Given the description of an element on the screen output the (x, y) to click on. 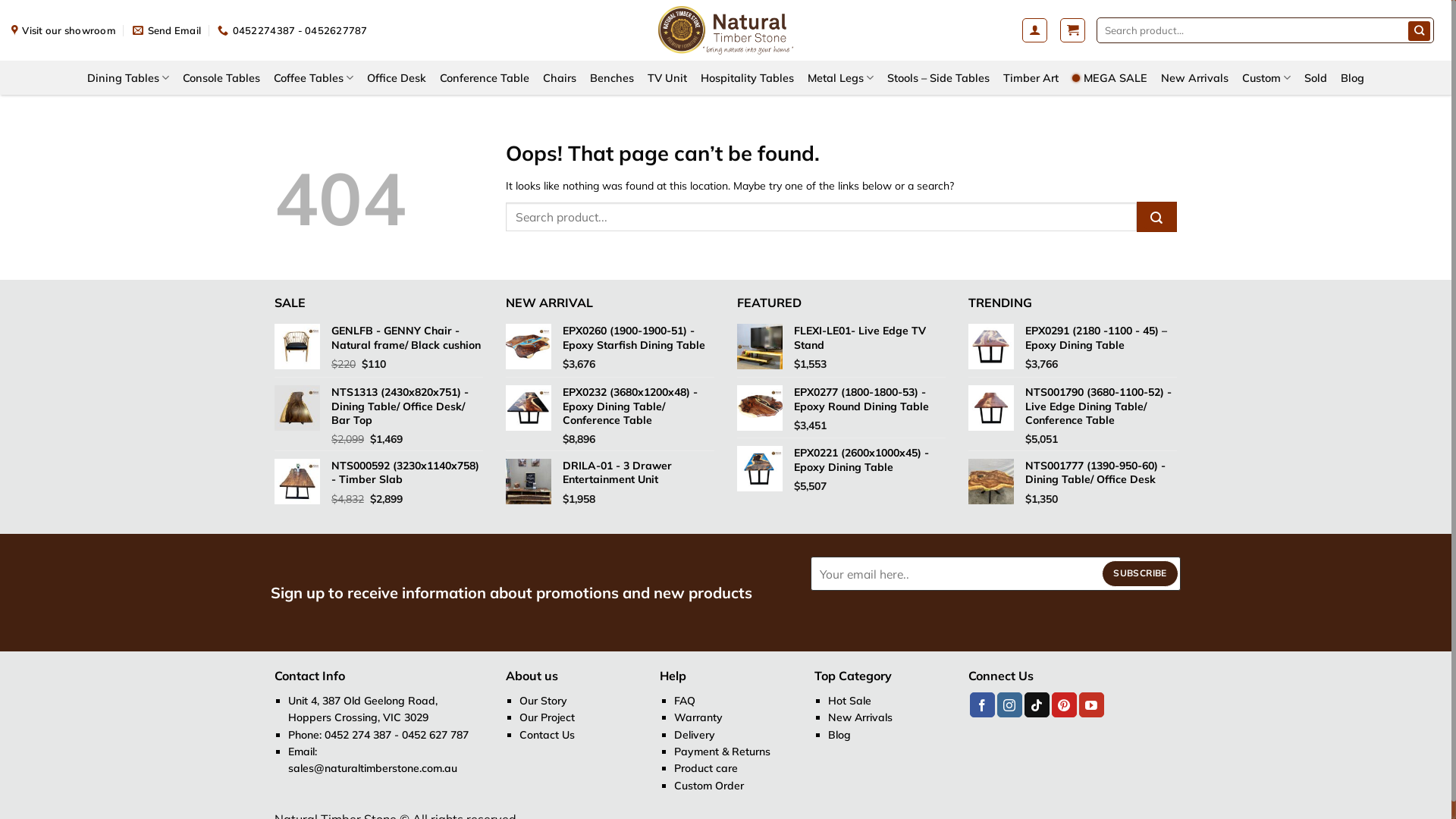
FLEXI-LE01- Live Edge TV Stand Element type: text (869, 337)
Contact Us Element type: text (546, 734)
Our Story Element type: text (543, 700)
NTS000592 (3230x1140x758) - Timber Slab Element type: text (407, 472)
Conference Table Element type: text (484, 77)
Timber Art Element type: text (1030, 77)
NTS001777 (1390-950-60) - Dining Table/ Office Desk Element type: text (1100, 472)
DRILA-01 - 3 Drawer Entertainment Unit Element type: text (638, 472)
Natural Timber Stone - Bring natural into your home Element type: hover (725, 30)
Payment & Returns Element type: text (722, 751)
EPX0277 (1800-1800-53) - Epoxy Round Dining Table Element type: text (869, 398)
TV Unit Element type: text (667, 77)
FAQ Element type: text (684, 700)
0452274387 - 0452627787 Element type: text (292, 30)
Custom Order Element type: text (708, 785)
EPX0260 (1900-1900-51) - Epoxy Starfish Dining Table Element type: text (638, 337)
GENLFB - GENNY Chair - Natural frame/ Black cushion Element type: text (407, 337)
Search Element type: text (1419, 30)
Cart Element type: hover (1072, 30)
Product care Element type: text (705, 768)
Our Project Element type: text (546, 717)
Coffee Tables Element type: text (313, 77)
Sold Element type: text (1315, 77)
EPX0221 (2600x1000x45) - Epoxy Dining Table Element type: text (869, 459)
New Arrivals Element type: text (860, 717)
Send Email Element type: text (166, 30)
Chairs Element type: text (559, 77)
Custom Element type: text (1266, 77)
Visit our showroom Element type: text (63, 30)
New Arrivals Element type: text (1194, 77)
Benches Element type: text (611, 77)
Blog Element type: text (839, 734)
Blog Element type: text (1352, 77)
Subscribe Element type: text (1139, 573)
Office Desk Element type: text (396, 77)
NTS1313 (2430x820x751) - Dining Table/ Office Desk/ Bar Top Element type: text (407, 405)
Console Tables Element type: text (221, 77)
Hospitality Tables Element type: text (746, 77)
MEGA SALE Element type: text (1109, 77)
Dining Tables Element type: text (128, 77)
Delivery Element type: text (694, 734)
Metal Legs Element type: text (840, 77)
Hot Sale Element type: text (849, 700)
Warranty Element type: text (698, 717)
